Given the description of an element on the screen output the (x, y) to click on. 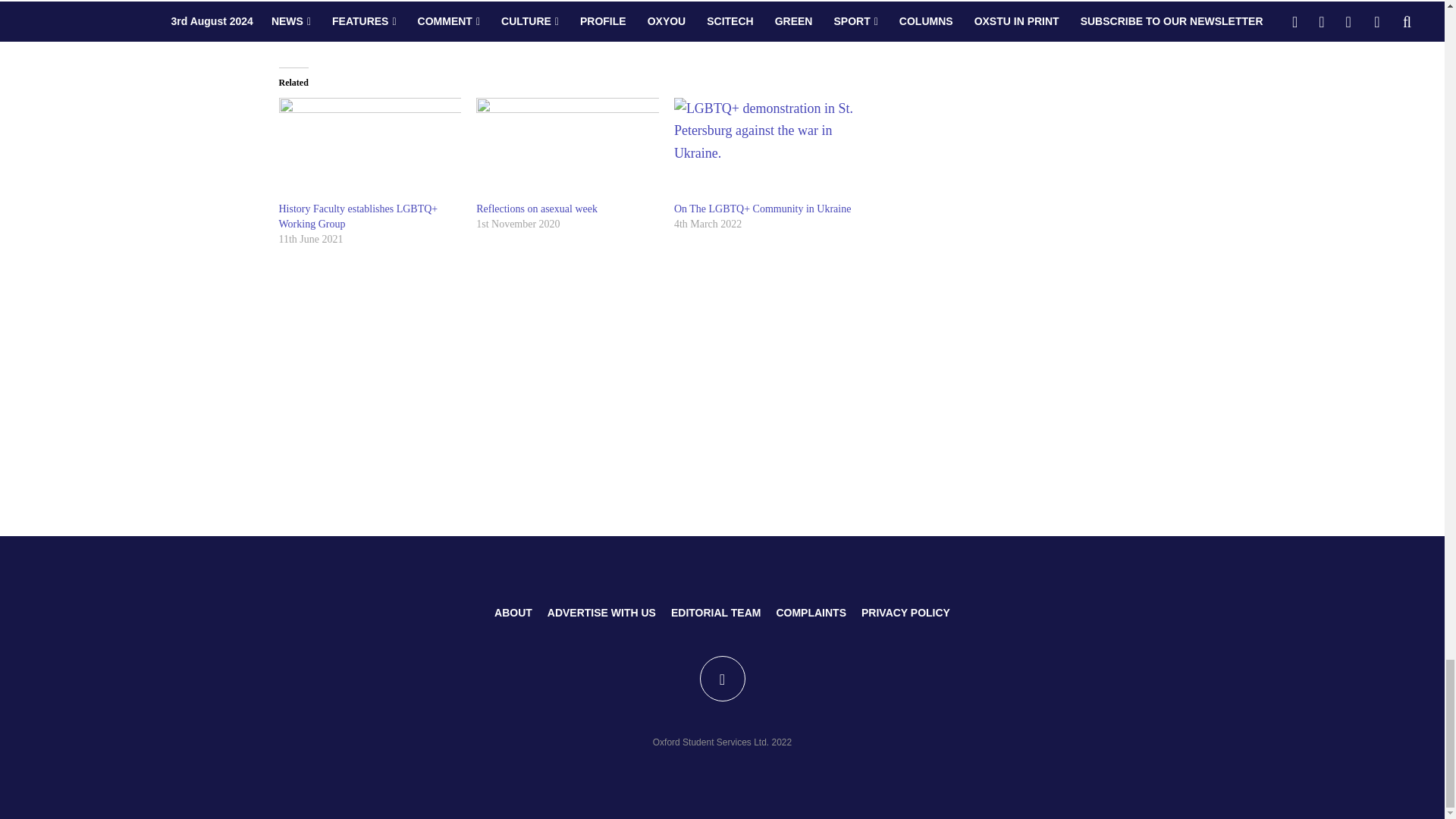
Click to share on LinkedIn (351, 16)
Click to share on Facebook (320, 16)
Reflections on asexual week (567, 149)
Click to share on Twitter (290, 16)
Reflections on asexual week (536, 208)
